Given the description of an element on the screen output the (x, y) to click on. 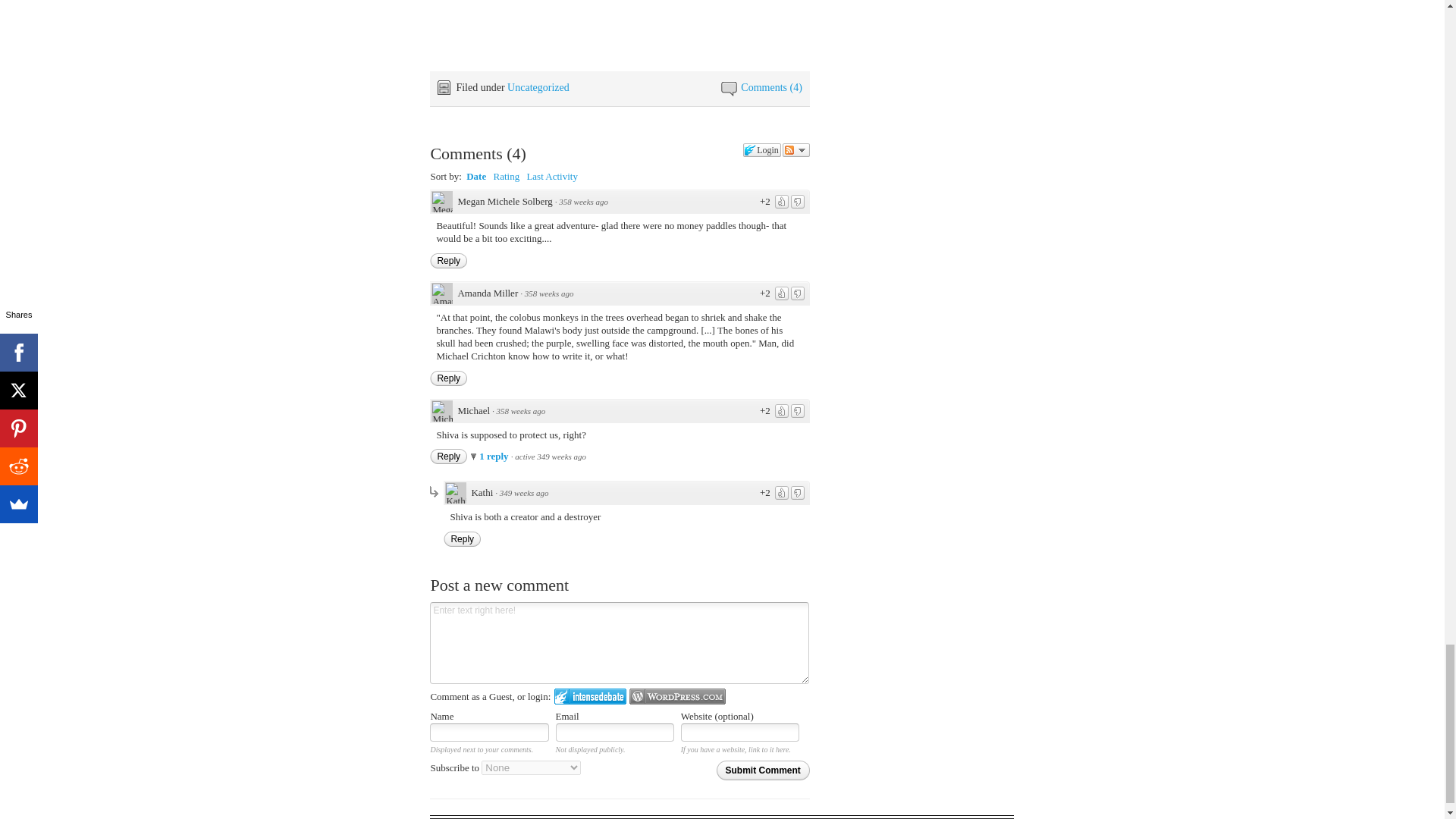
Follow the discussion (796, 150)
Comment Permalink (583, 201)
Comment Permalink (548, 293)
Comment Permalink (521, 410)
Login (761, 150)
Uncategorized (537, 87)
Comment Permalink (523, 492)
